Given the description of an element on the screen output the (x, y) to click on. 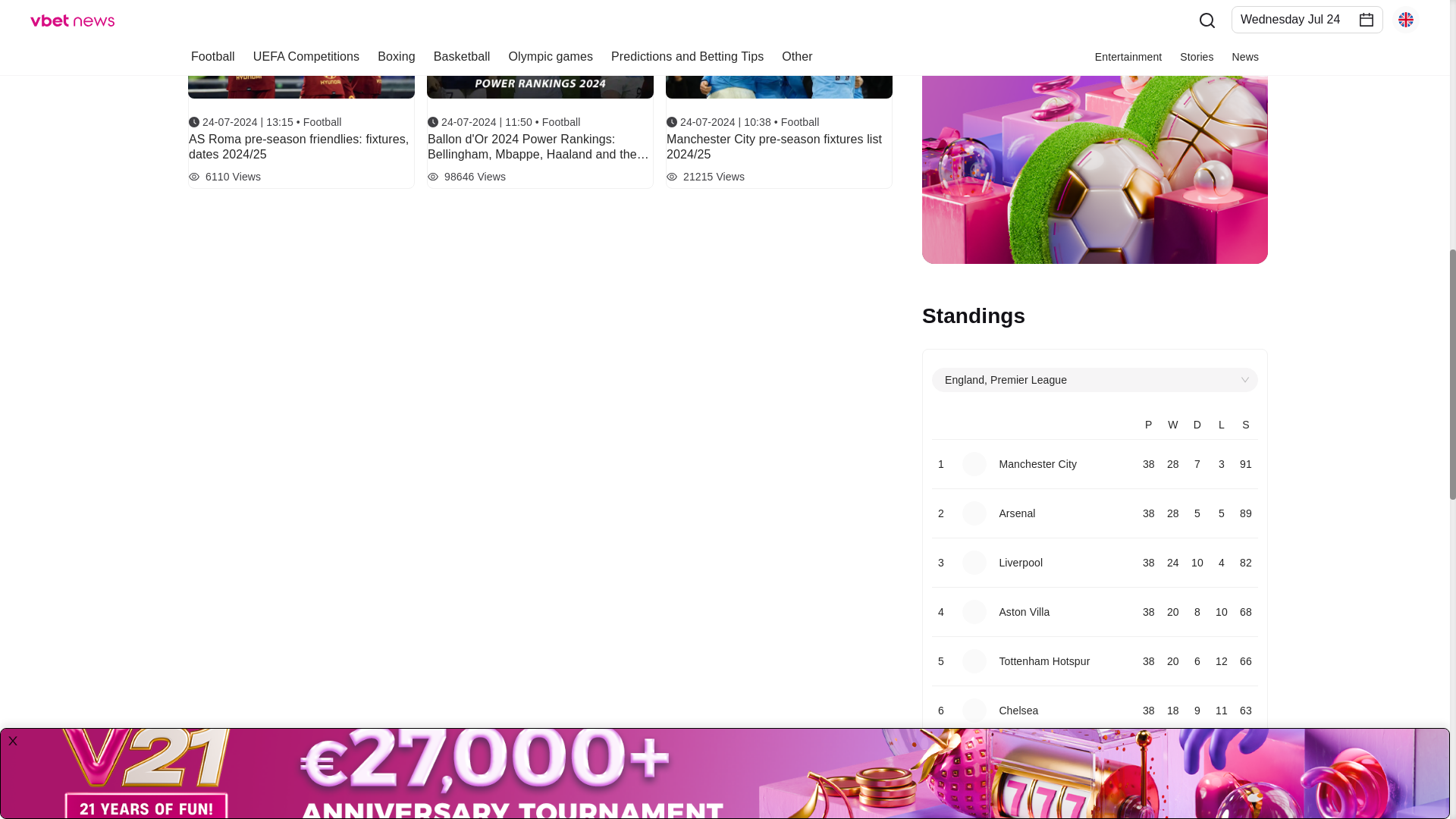
England, Premier League (1094, 379)
Exclusive (966, 246)
Exclusive (966, 246)
